Given the description of an element on the screen output the (x, y) to click on. 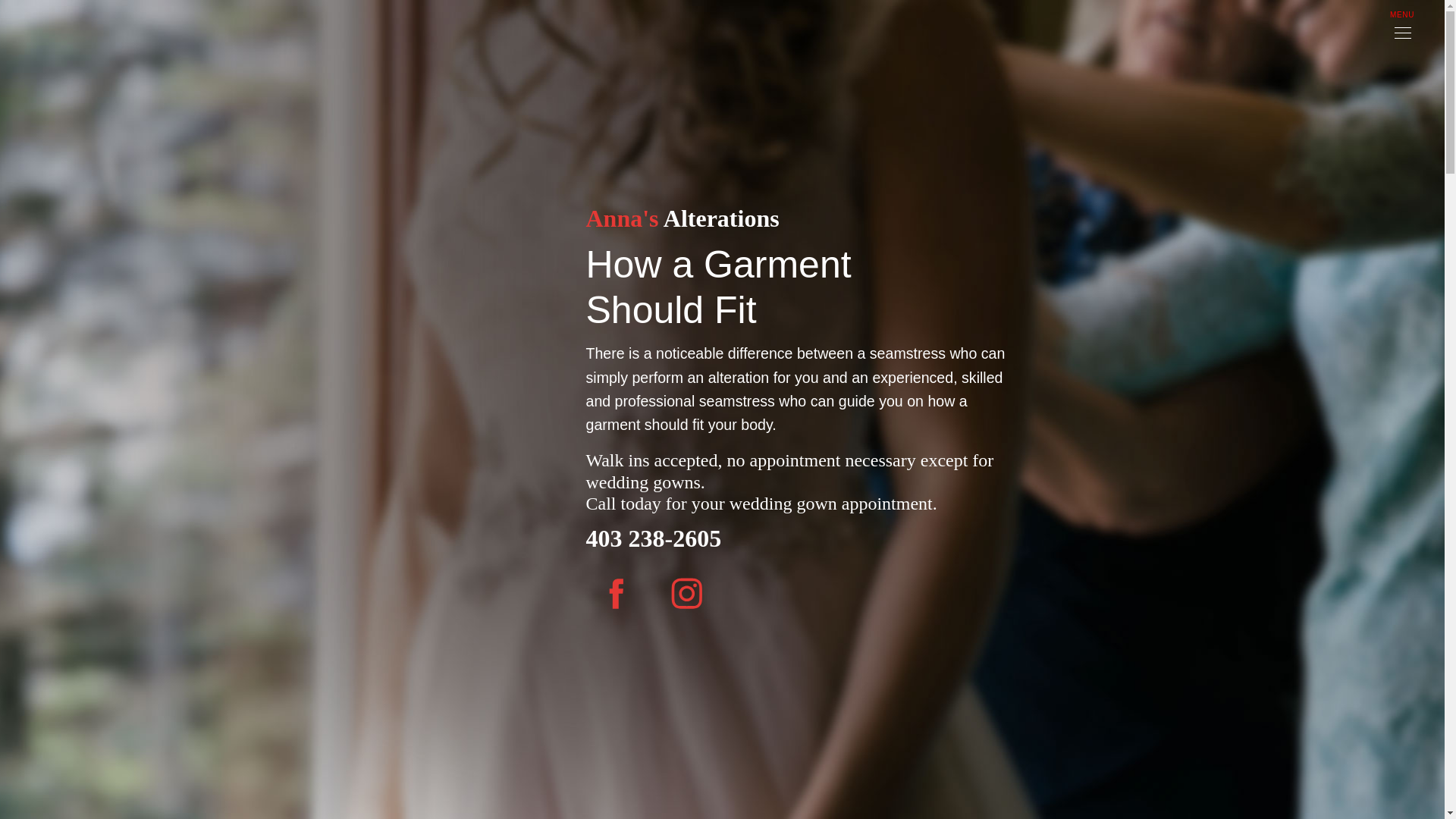
Facebook (616, 592)
Instagram (687, 592)
403 238-2605 (652, 538)
